Given the description of an element on the screen output the (x, y) to click on. 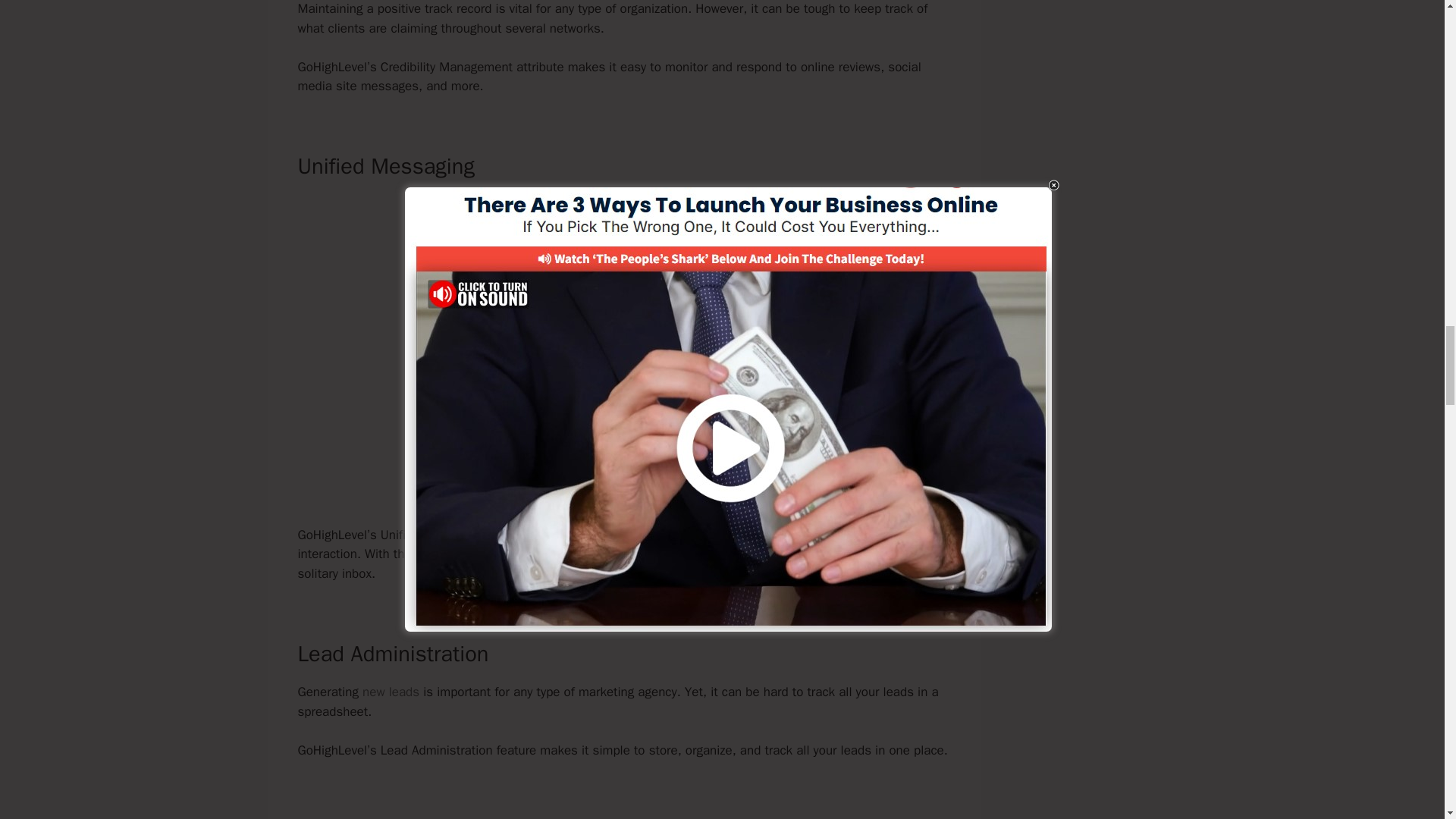
new leads (390, 691)
Grab Your GoHighLevel Free Account Today (622, 482)
YouTube video player (622, 314)
